Given the description of an element on the screen output the (x, y) to click on. 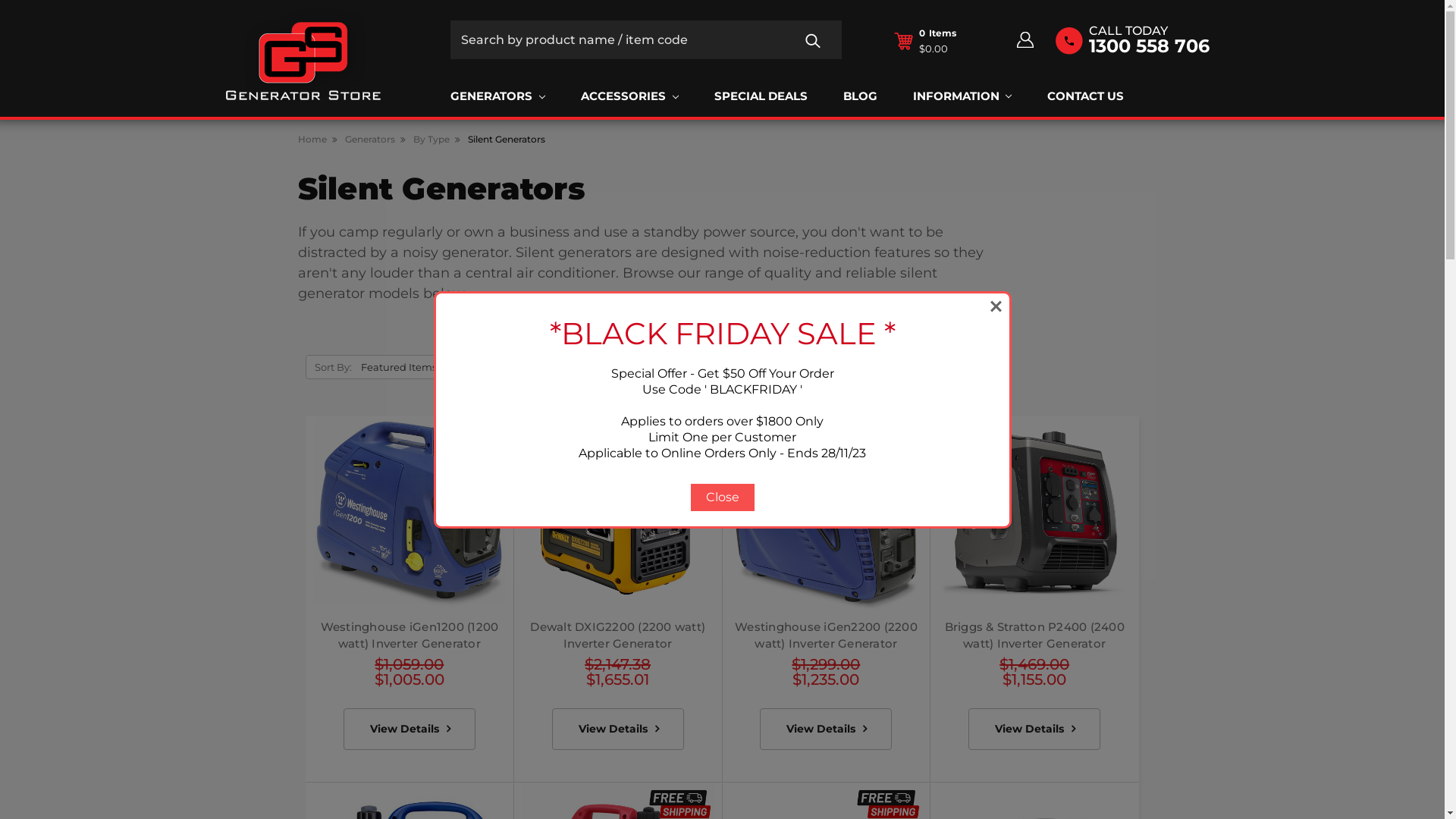
Westinghouse iGen1200 (1200 watt) Inverter Generator Element type: hover (409, 513)
SPECIAL DEALS Element type: text (760, 96)
Home Element type: text (311, 138)
View Details Element type: text (409, 728)
View Details Element type: text (618, 728)
By Type Element type: text (430, 138)
Generator Store Element type: hover (302, 55)
View Details Element type: text (825, 728)
Westinghouse iGen1200 (1200 watt) Inverter Generator Element type: text (409, 635)
Close Element type: text (721, 497)
CONTACT US Element type: text (1085, 96)
ACCESSORIES Element type: text (629, 96)
BLOG Element type: text (860, 96)
Westinghouse iGen2200 (2200 watt) Inverter Generator Element type: text (825, 635)
INFORMATION Element type: text (956, 96)
View Details Element type: text (1034, 728)
Generators Element type: text (369, 138)
Westinghouse iGen2200 (2200 watt) Inverter Generator Element type: hover (826, 513)
1300 558 706 Element type: text (1148, 46)
GENERATORS Element type: text (497, 96)
Dewalt DXIG2200 (2200 watt) Inverter Generator  Element type: hover (617, 513)
Briggs & Stratton P2400 (2400 watt) Inverter Generator Element type: text (1034, 635)
Briggs & Stratton P2400 (2400 watt) Inverter Generator Element type: hover (1034, 513)
Dewalt DXIG2200 (2200 watt) Inverter Generator Element type: text (617, 635)
